Given the description of an element on the screen output the (x, y) to click on. 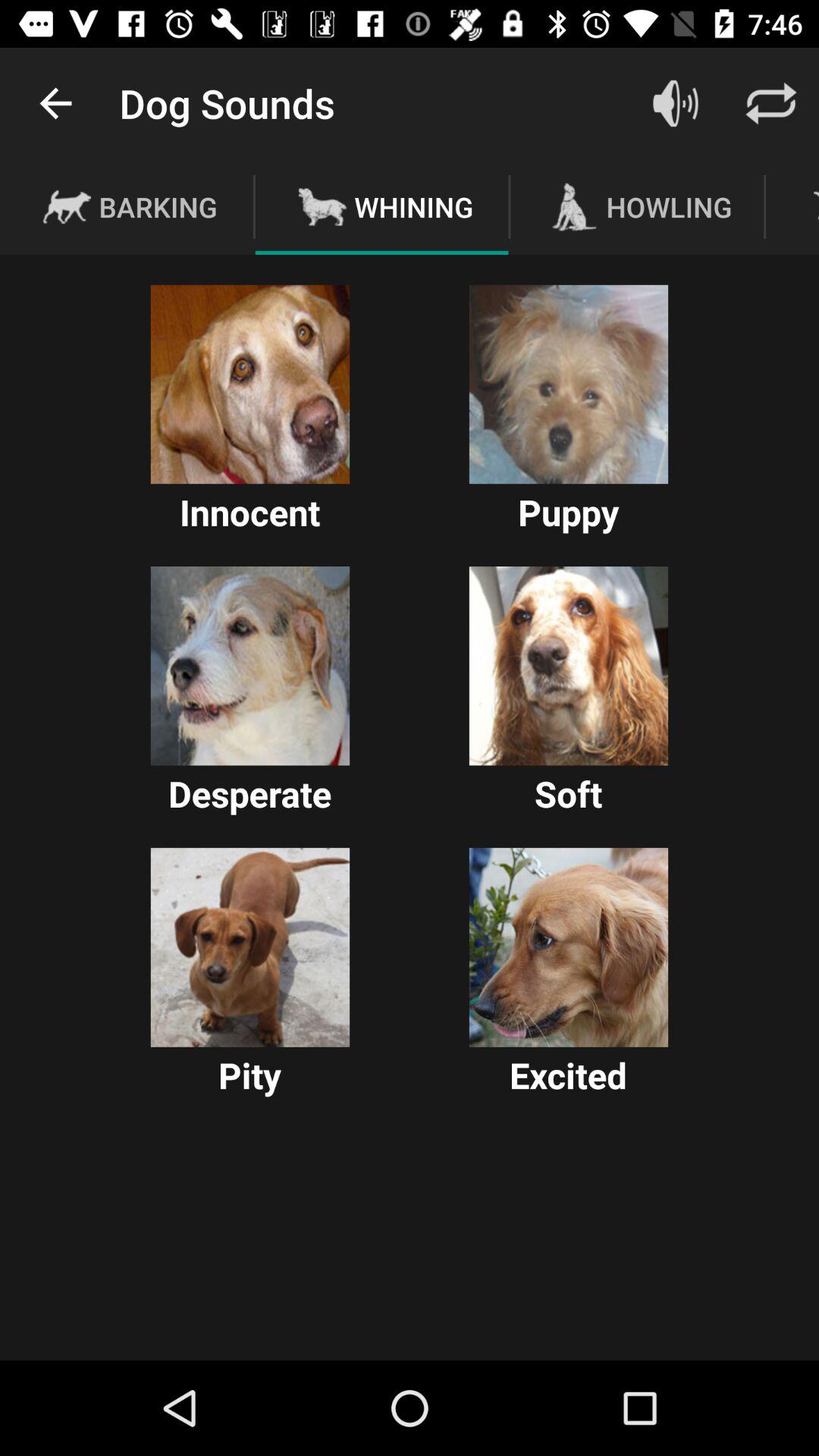
turn on the icon above the howling (771, 103)
